Given the description of an element on the screen output the (x, y) to click on. 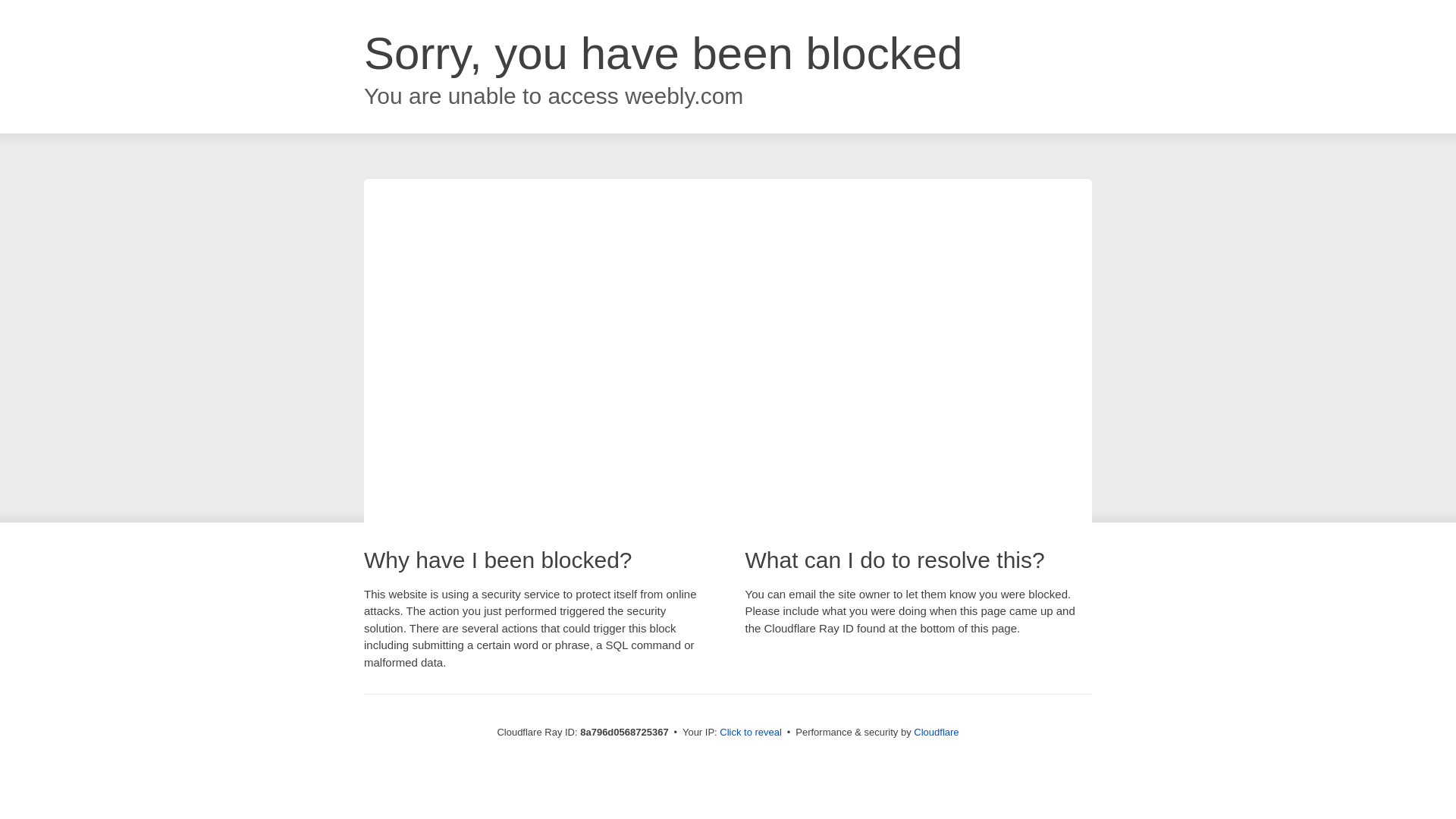
Cloudflare (936, 731)
Click to reveal (750, 732)
